Given the description of an element on the screen output the (x, y) to click on. 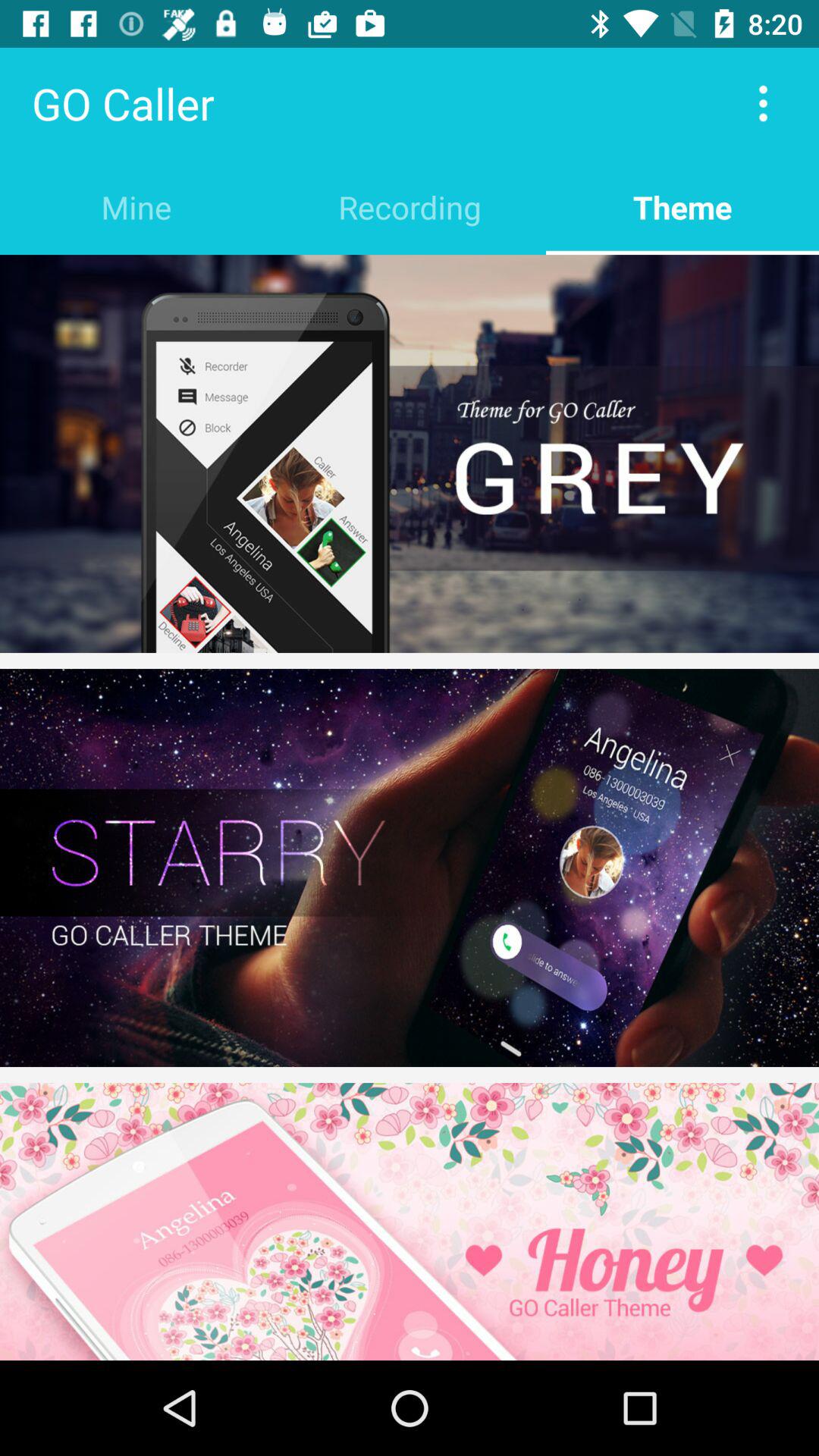
select theme (409, 453)
